Given the description of an element on the screen output the (x, y) to click on. 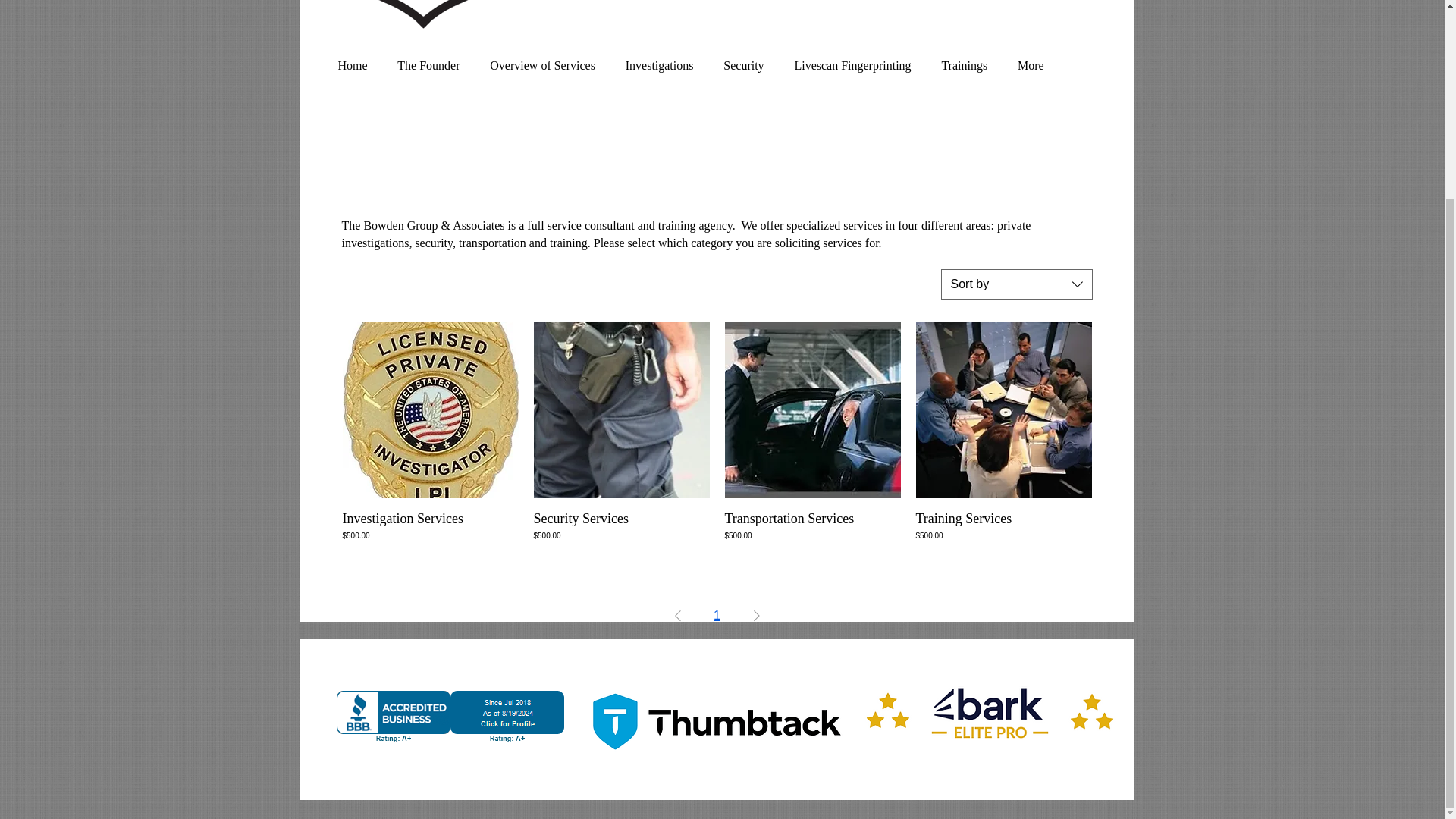
Security (742, 65)
Embedded Content (450, 716)
Home (352, 65)
Investigations (659, 65)
The Founder (427, 65)
Overview of Services (542, 65)
Sort by (1016, 284)
More (1030, 65)
Livescan Fingerprinting (852, 65)
Trainings (964, 65)
